Given the description of an element on the screen output the (x, y) to click on. 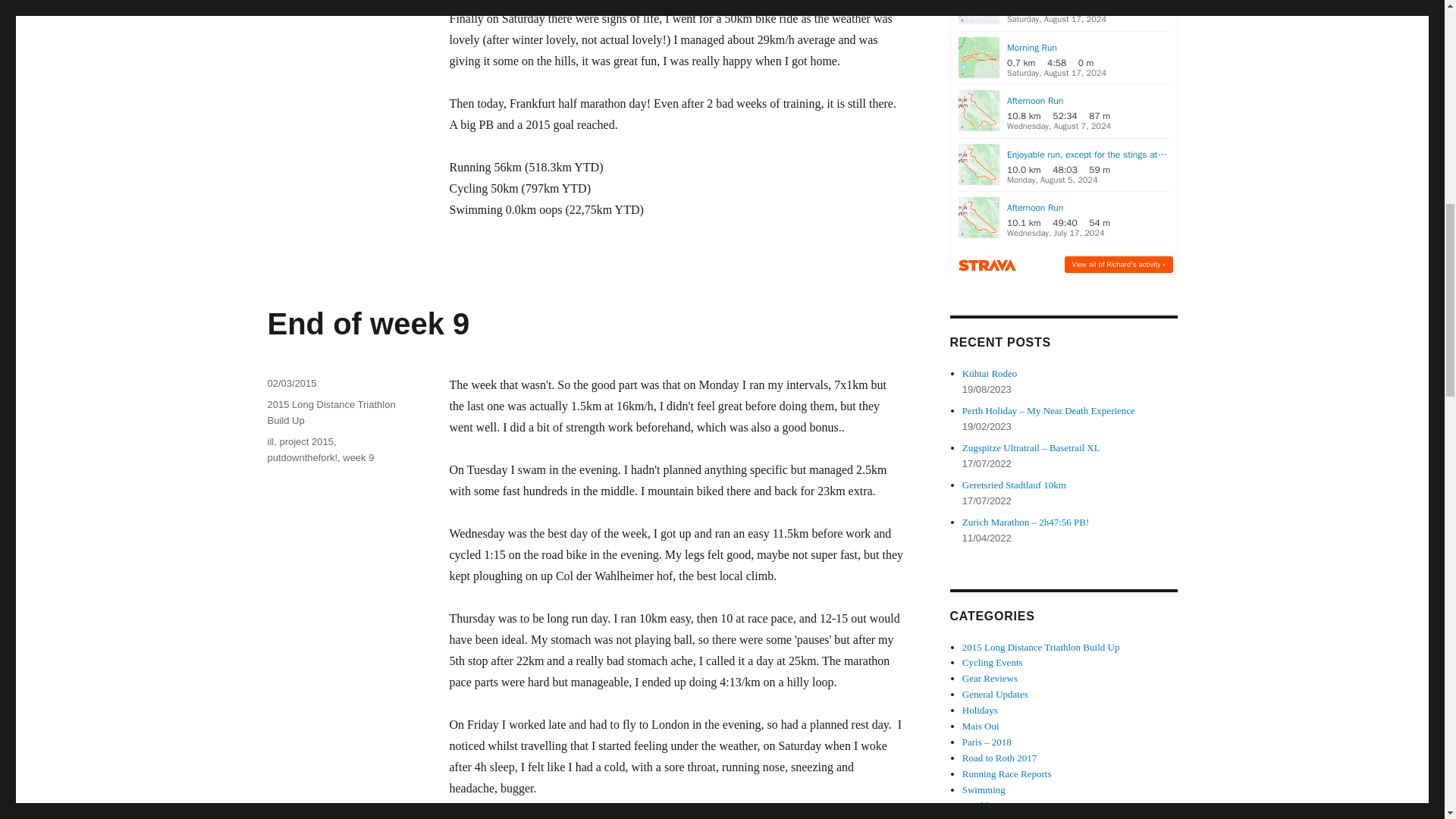
project 2015 (306, 441)
2015 Long Distance Triathlon Build Up (330, 411)
week 9 (358, 457)
putdownthefork! (301, 457)
End of week 9 (367, 323)
